Given the description of an element on the screen output the (x, y) to click on. 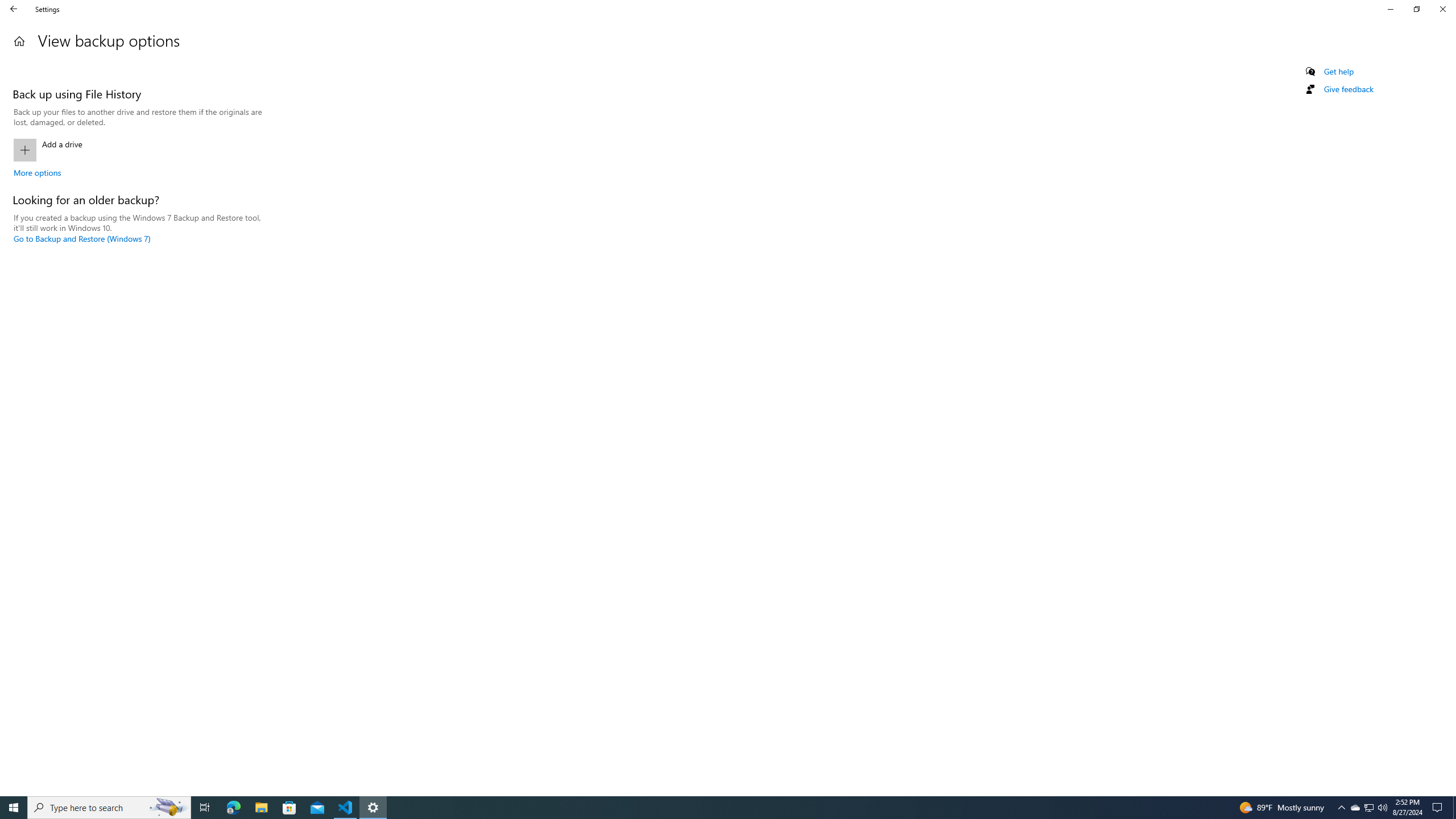
More options (37, 172)
Go to Backup and Restore (Windows 7) (82, 238)
